Given the description of an element on the screen output the (x, y) to click on. 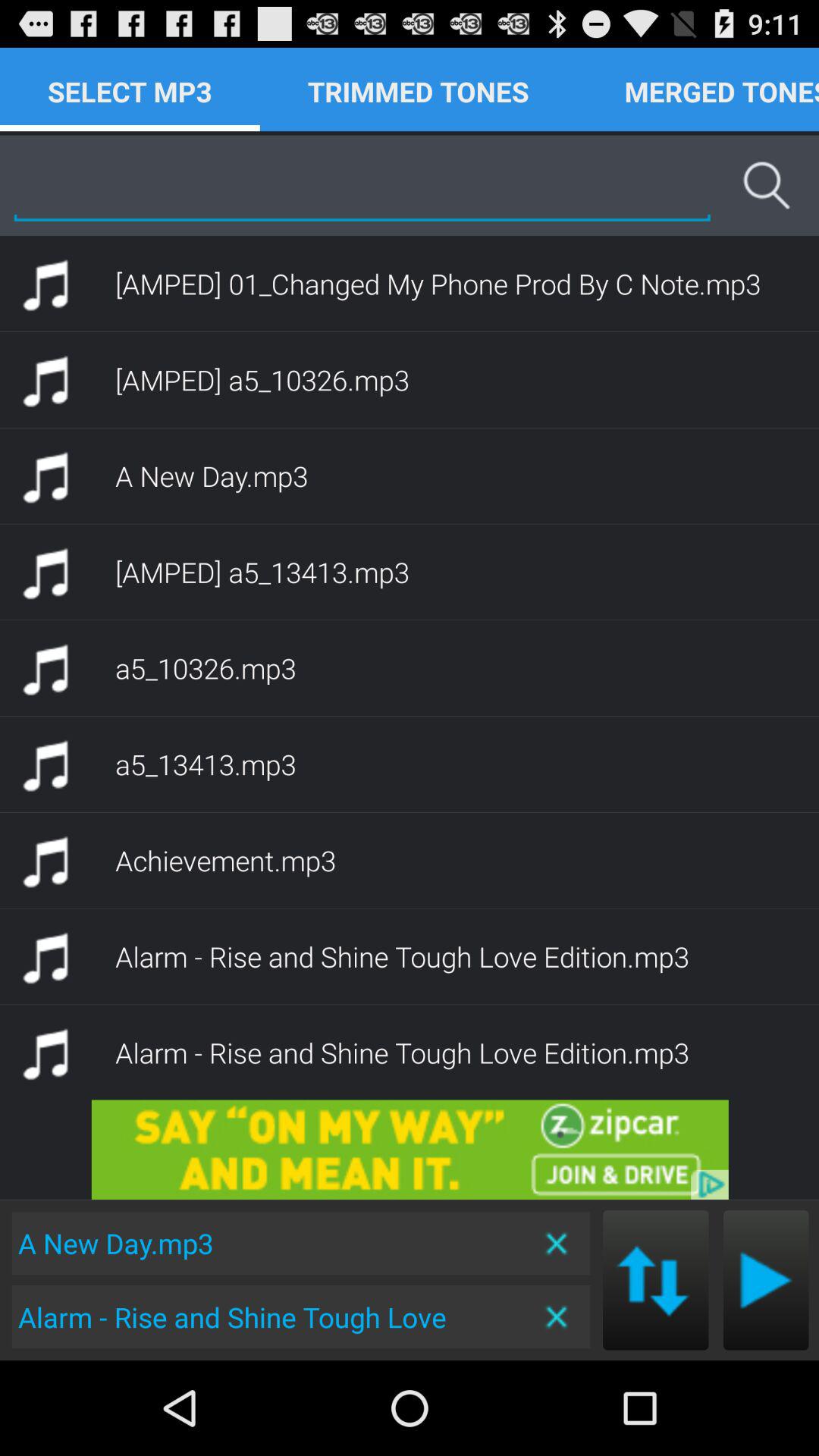
play song (766, 1280)
